Given the description of an element on the screen output the (x, y) to click on. 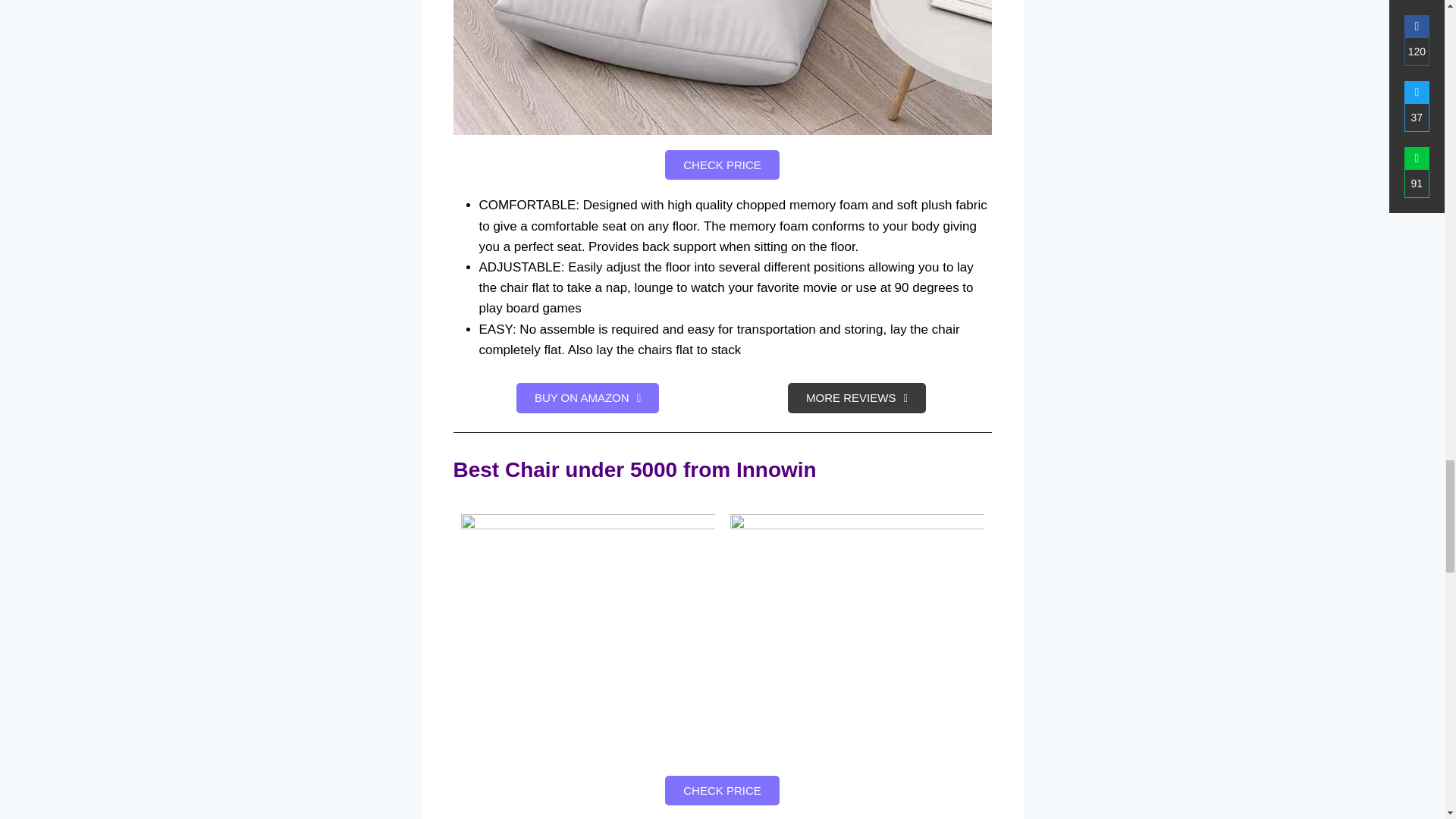
CHECK PRICE (721, 790)
CHECK PRICE (721, 164)
MORE REVIEWS (856, 398)
BUY ON AMAZON (587, 398)
